Given the description of an element on the screen output the (x, y) to click on. 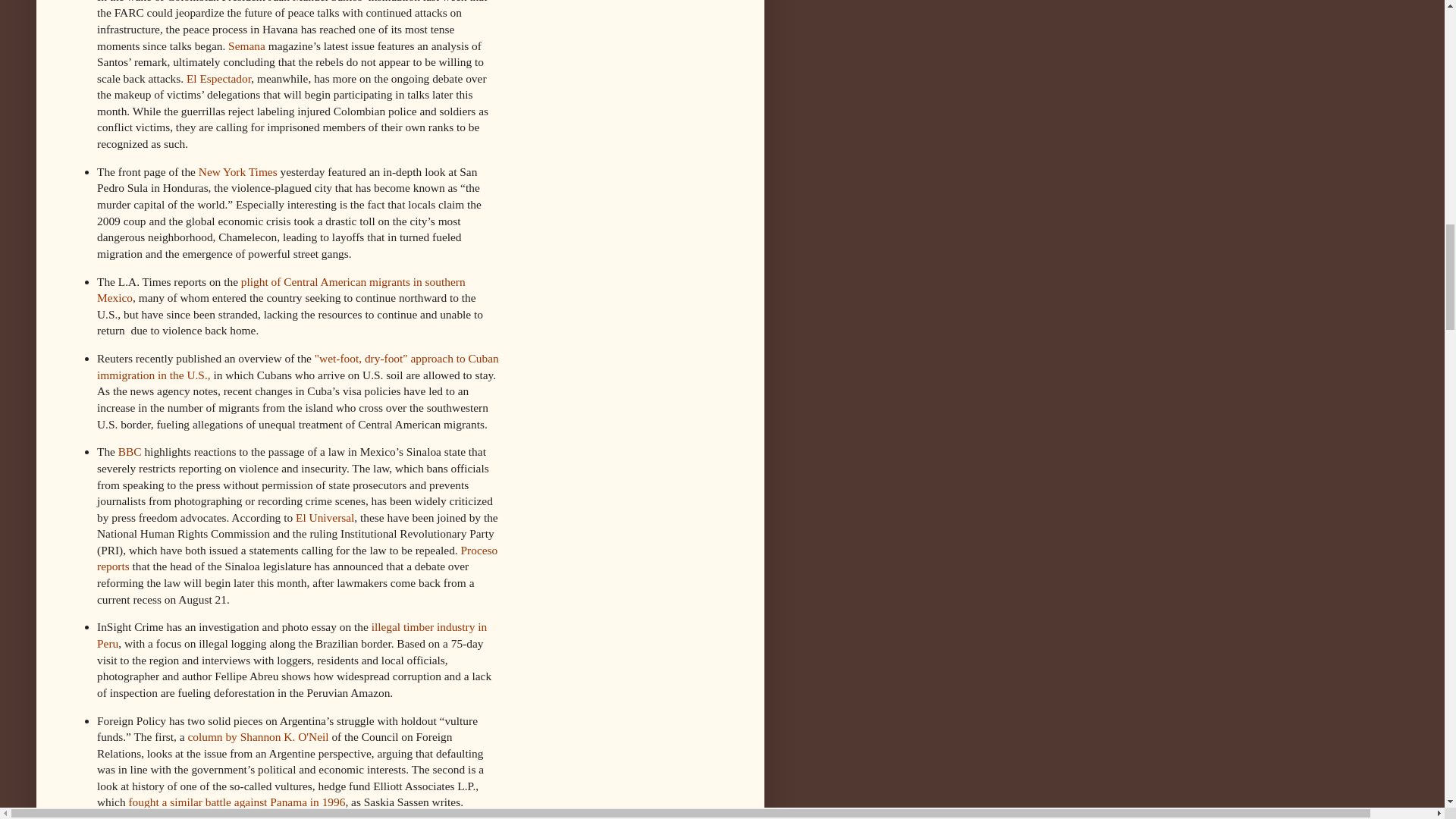
New York Times (238, 171)
illegal timber industry in Peru (291, 634)
fought a similar battle against Panama in 1996 (236, 801)
Proceso reports (297, 558)
El Espectador (218, 78)
plight of Central American migrants in southern Mexico (281, 289)
column by Shannon K. O'Neil (258, 736)
El Universal (324, 517)
BBC (129, 451)
Semana (246, 45)
